Given the description of an element on the screen output the (x, y) to click on. 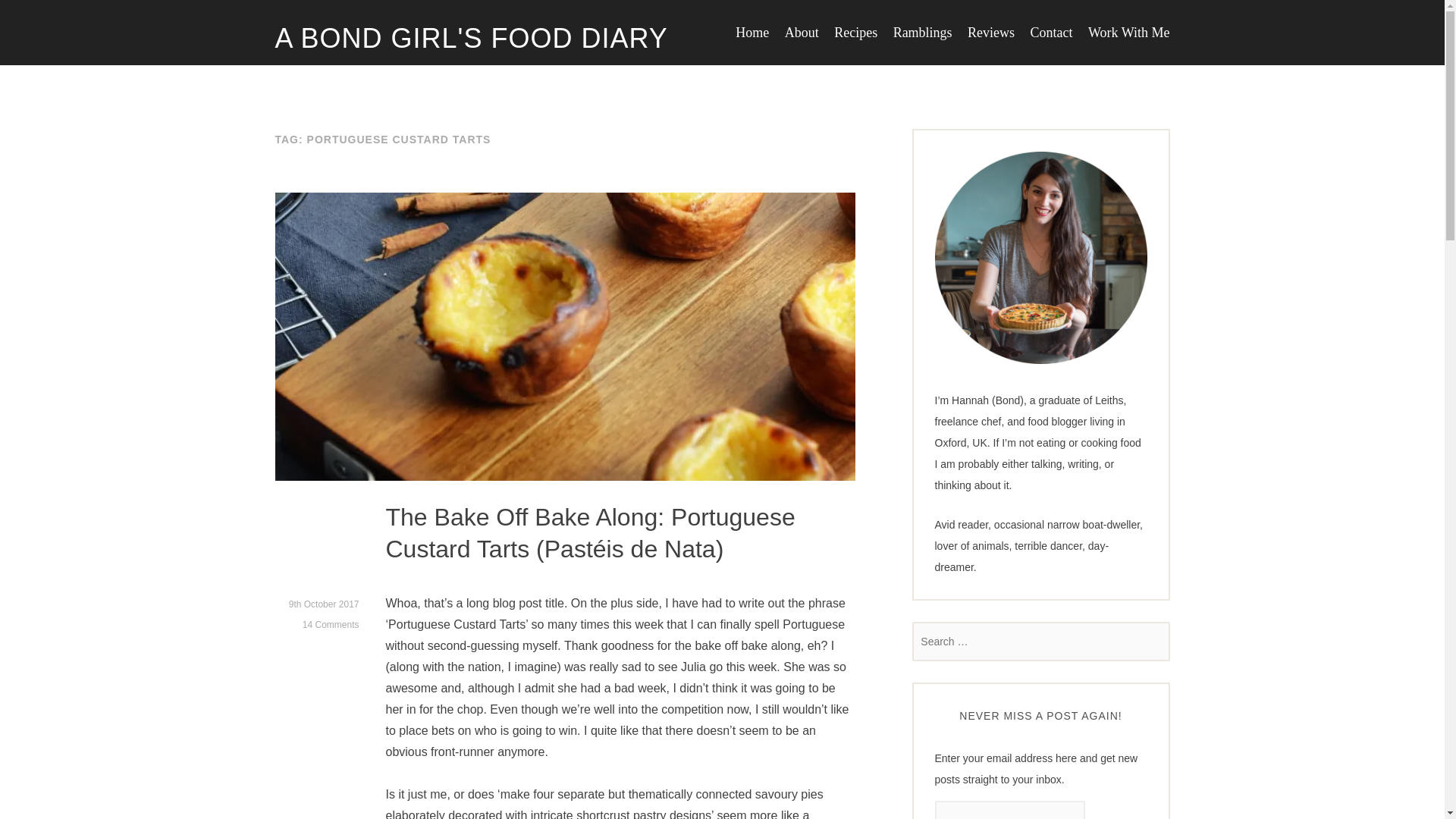
Home (751, 32)
About (801, 32)
Ramblings (922, 32)
A BOND GIRL'S FOOD DIARY (470, 38)
Contact (1051, 32)
14 Comments (330, 624)
Search (34, 15)
9th October 2017 (323, 604)
Recipes (855, 32)
Work With Me (1128, 32)
